Given the description of an element on the screen output the (x, y) to click on. 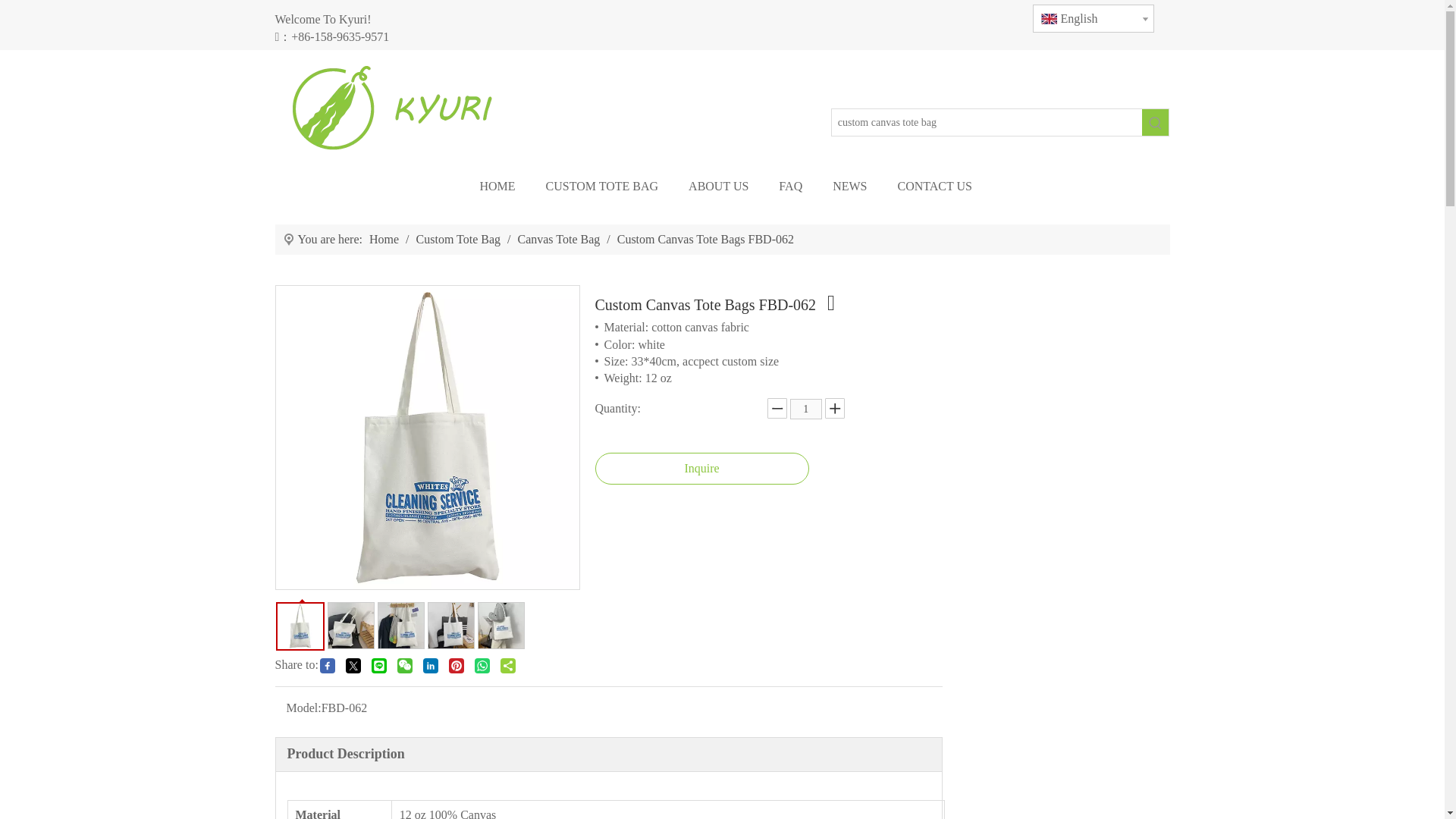
Custom Tote Bag (459, 238)
Canvas Tote Bag (559, 238)
CONTACT US (935, 186)
1 (806, 408)
ABOUT US (718, 186)
Home (385, 238)
CUSTOM TOTE BAG (602, 186)
